Given the description of an element on the screen output the (x, y) to click on. 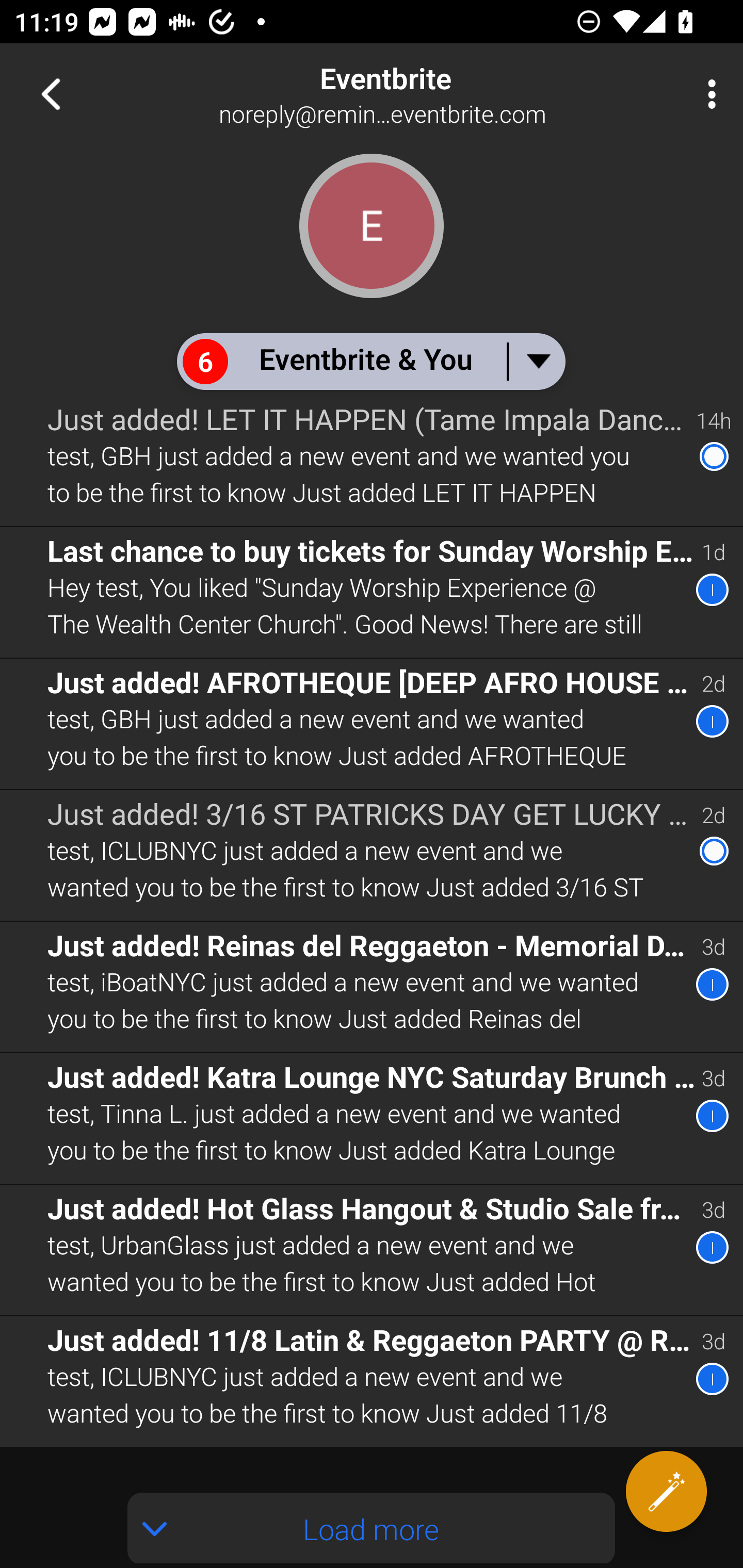
Navigate up (50, 93)
Eventbrite noreply@reminder.eventbrite.com (436, 93)
More Options (706, 93)
6 Eventbrite & You (370, 361)
Load more (371, 1527)
